Given the description of an element on the screen output the (x, y) to click on. 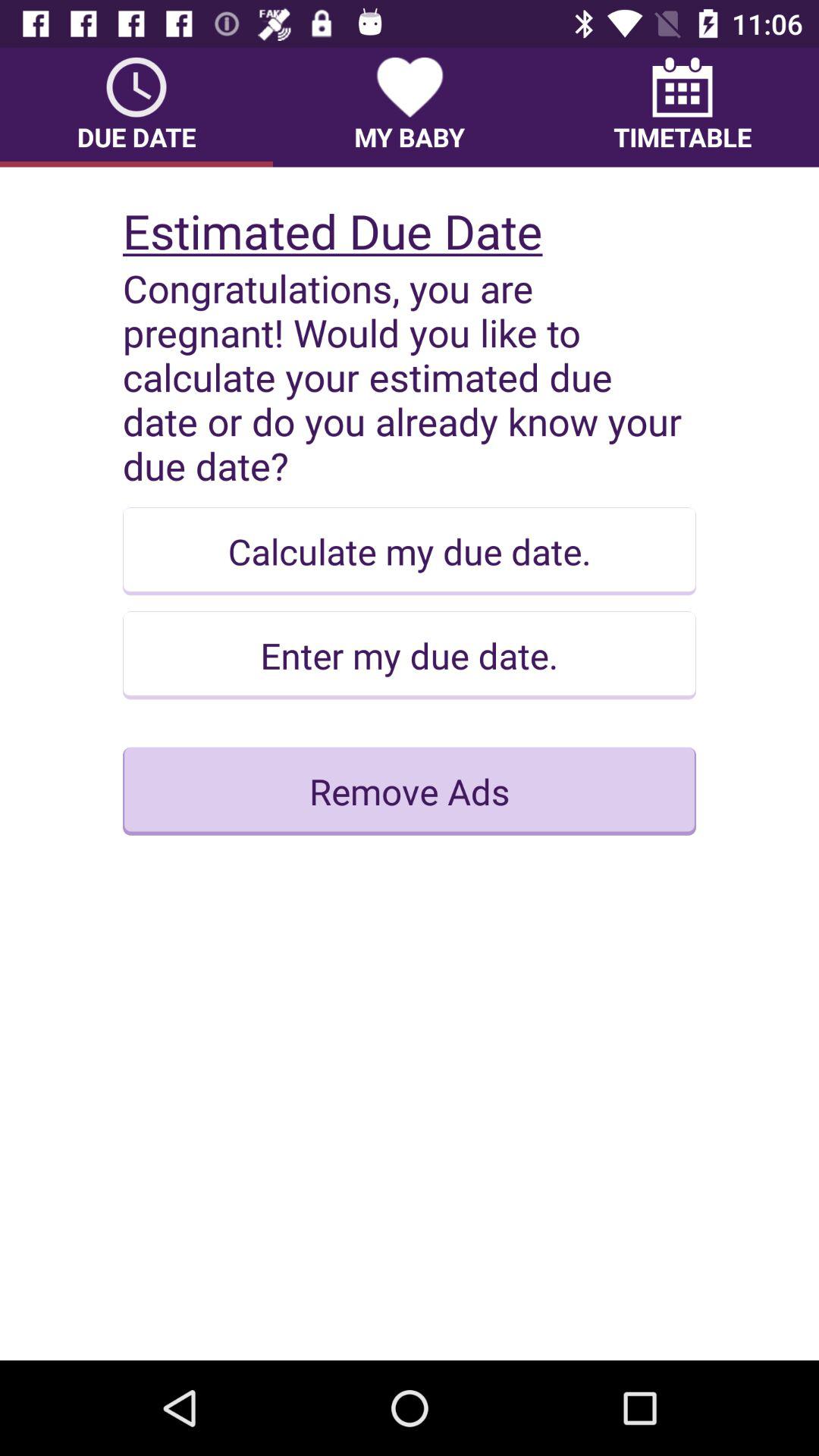
select the my baby item (409, 107)
